Given the description of an element on the screen output the (x, y) to click on. 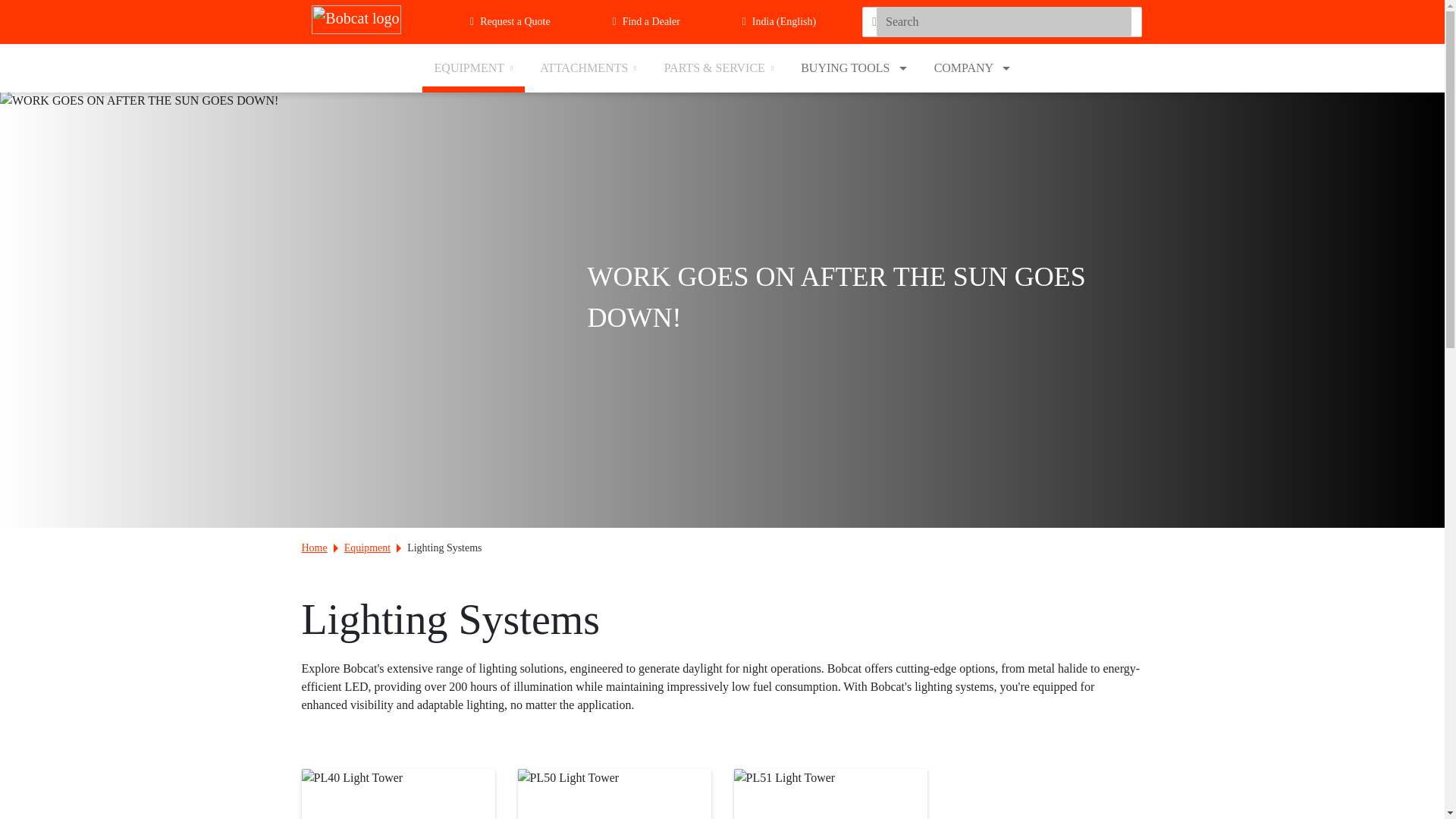
PL40 Light Tower (398, 794)
PL51 Light Tower (830, 794)
WORK GOES ON AFTER THE SUN GOES DOWN! (139, 100)
Bobcat logo (365, 19)
Request a Quote (515, 22)
Find a Dealer (650, 22)
PL50 Light Tower (613, 794)
